Given the description of an element on the screen output the (x, y) to click on. 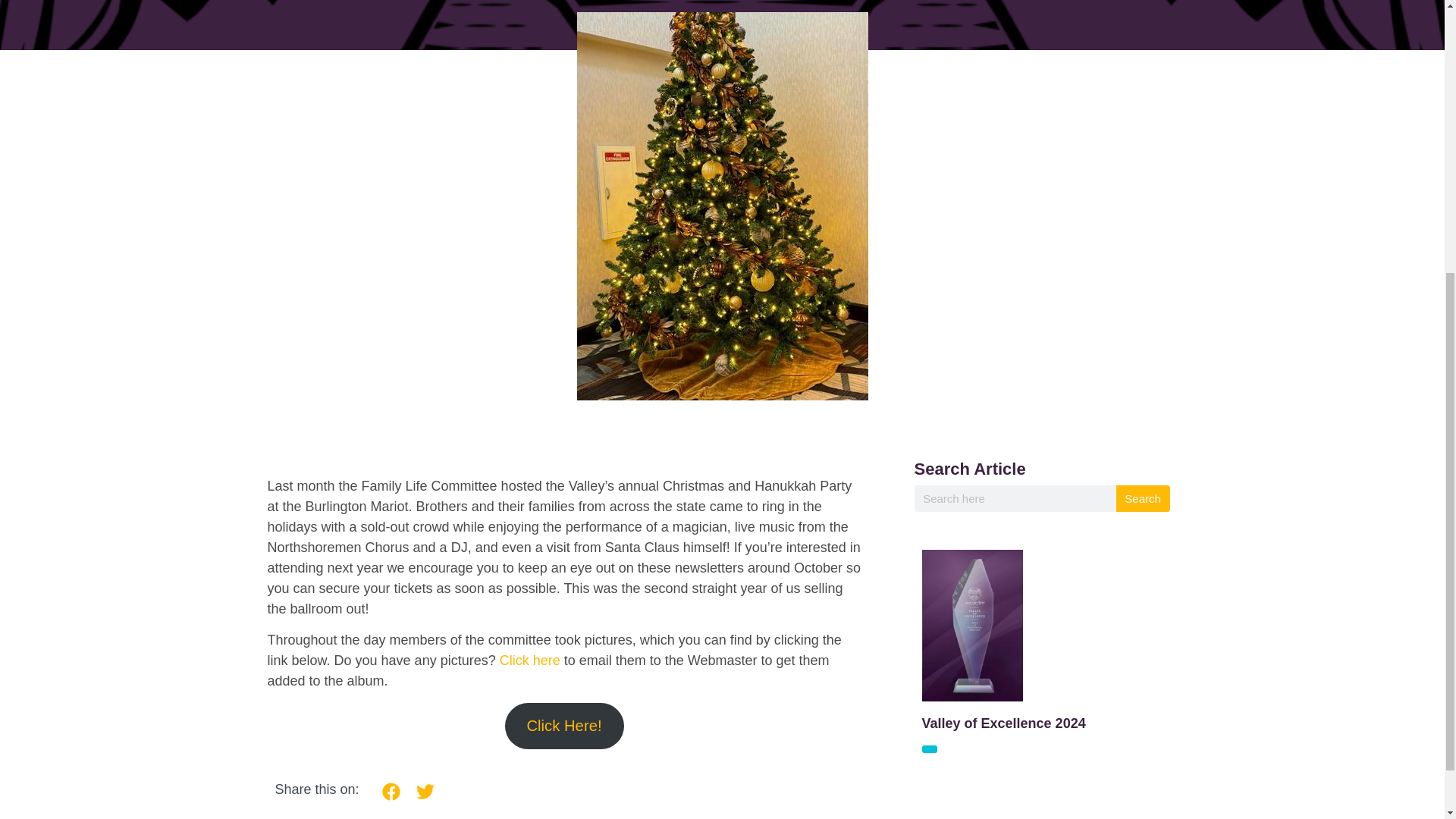
Valley of Excellence 2024 (1003, 723)
Search (1143, 498)
Click here (529, 660)
Click Here! (564, 725)
